Given the description of an element on the screen output the (x, y) to click on. 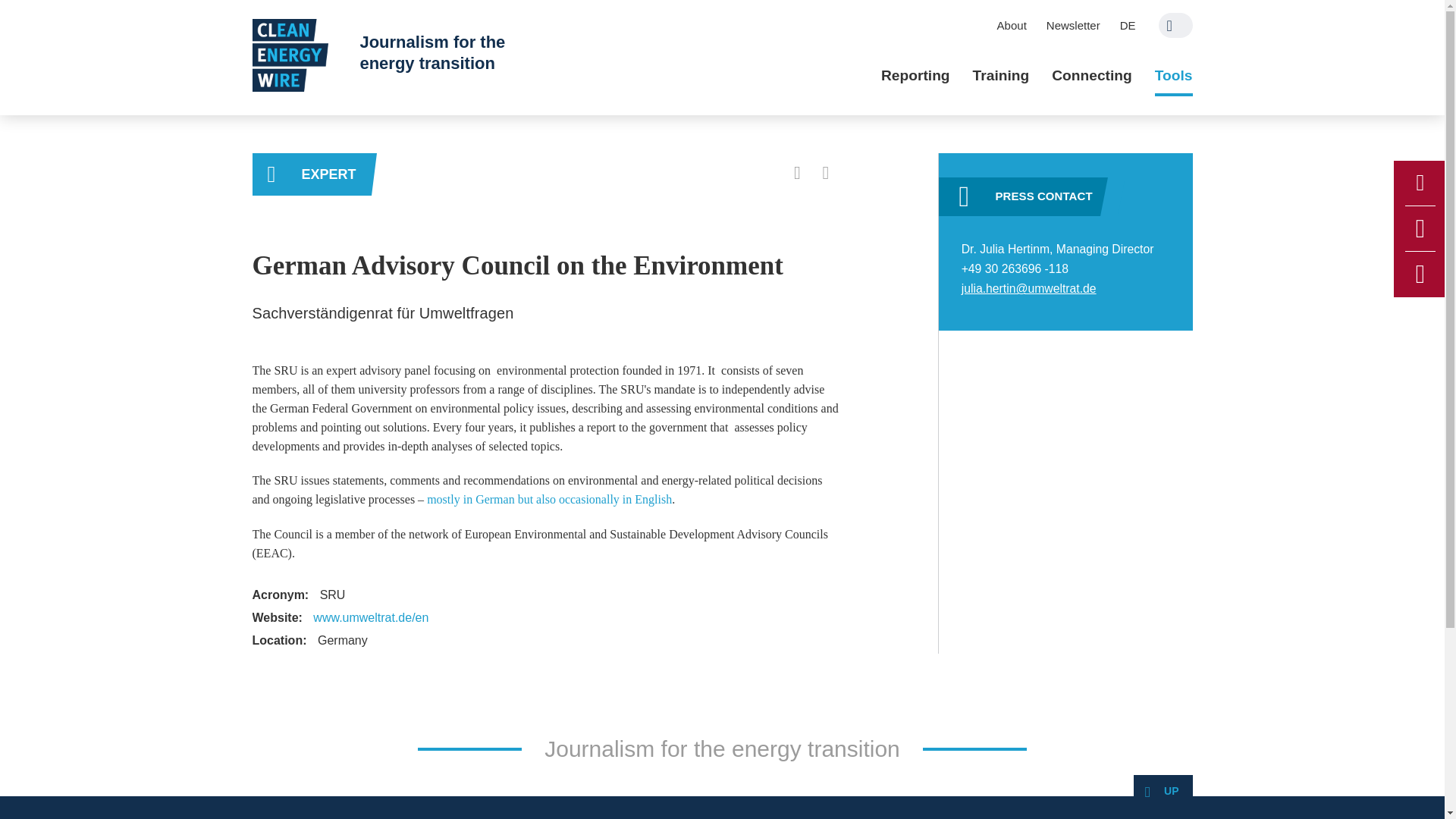
Connecting (1091, 75)
EXPERT (311, 174)
About (1011, 25)
mostly in German but also occasionally in English (548, 499)
Reporting (915, 75)
Newsletter (1072, 25)
DE (1127, 25)
Search (1175, 25)
Tools (1173, 75)
Training (1000, 75)
